Given the description of an element on the screen output the (x, y) to click on. 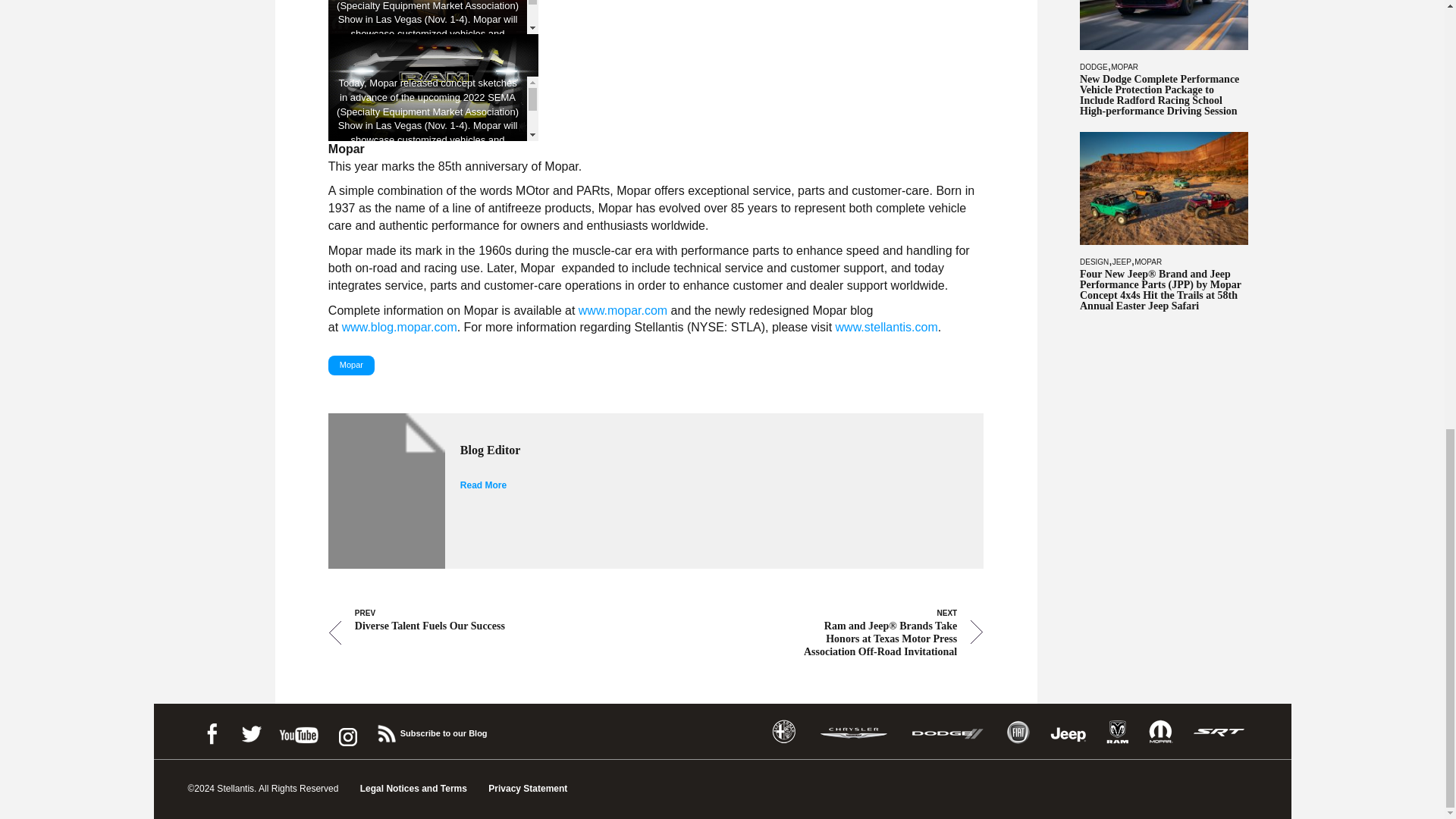
DESIGN (1094, 261)
MOPAR (1124, 66)
DODGE (1094, 66)
